Given the description of an element on the screen output the (x, y) to click on. 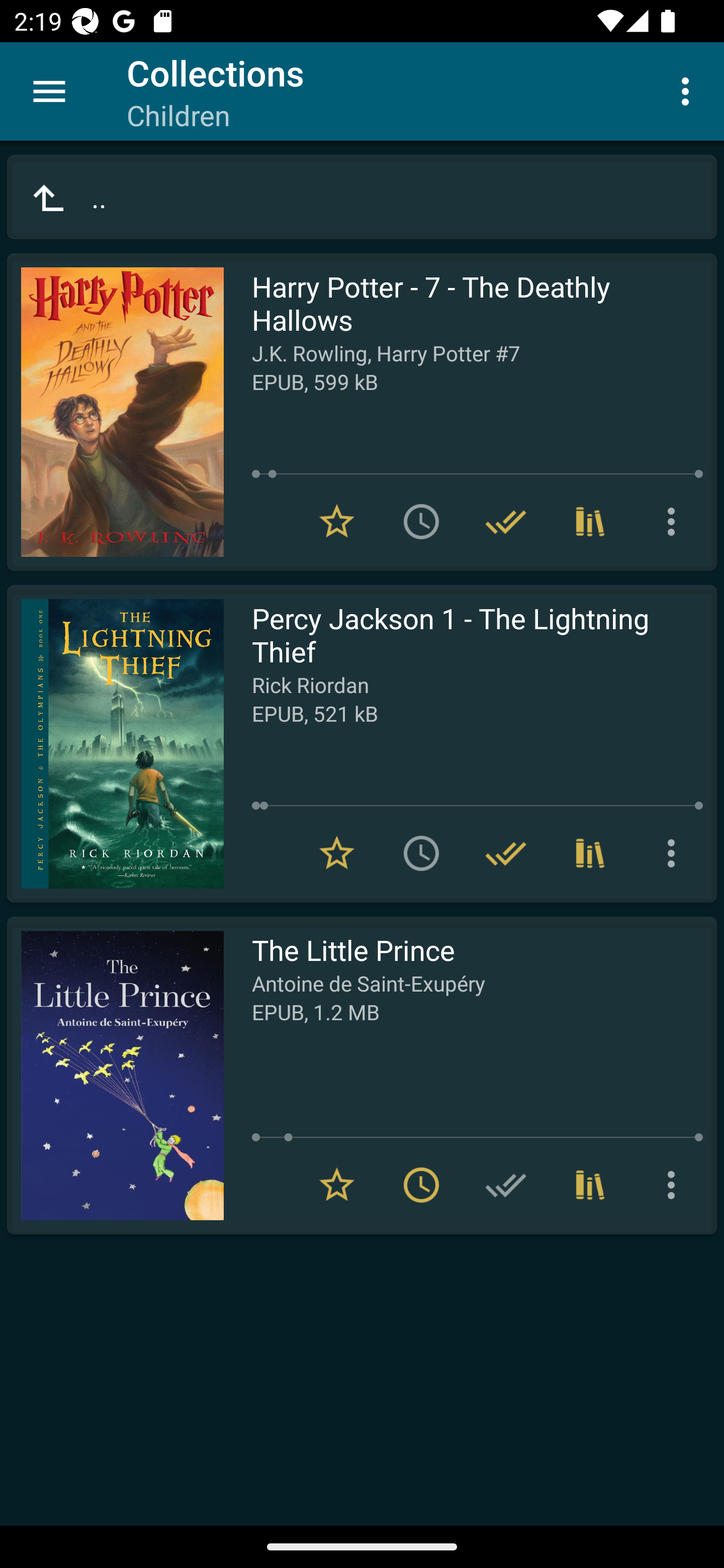
Menu (49, 91)
More options (688, 90)
.. (361, 197)
Read Harry Potter - 7 - The Deathly Hallows (115, 412)
Remove from Favorites (336, 521)
Add to To read (421, 521)
Remove from Have read (505, 521)
Collections (3) (590, 521)
More options (674, 521)
Read Percy Jackson 1 - The Lightning Thief (115, 743)
Remove from Favorites (336, 852)
Add to To read (421, 852)
Remove from Have read (505, 852)
Collections (1) (590, 852)
More options (674, 852)
Read The Little Prince (115, 1075)
Remove from Favorites (336, 1185)
Remove from To read (421, 1185)
Add to Have read (505, 1185)
Collections (1) (590, 1185)
More options (674, 1185)
